Given the description of an element on the screen output the (x, y) to click on. 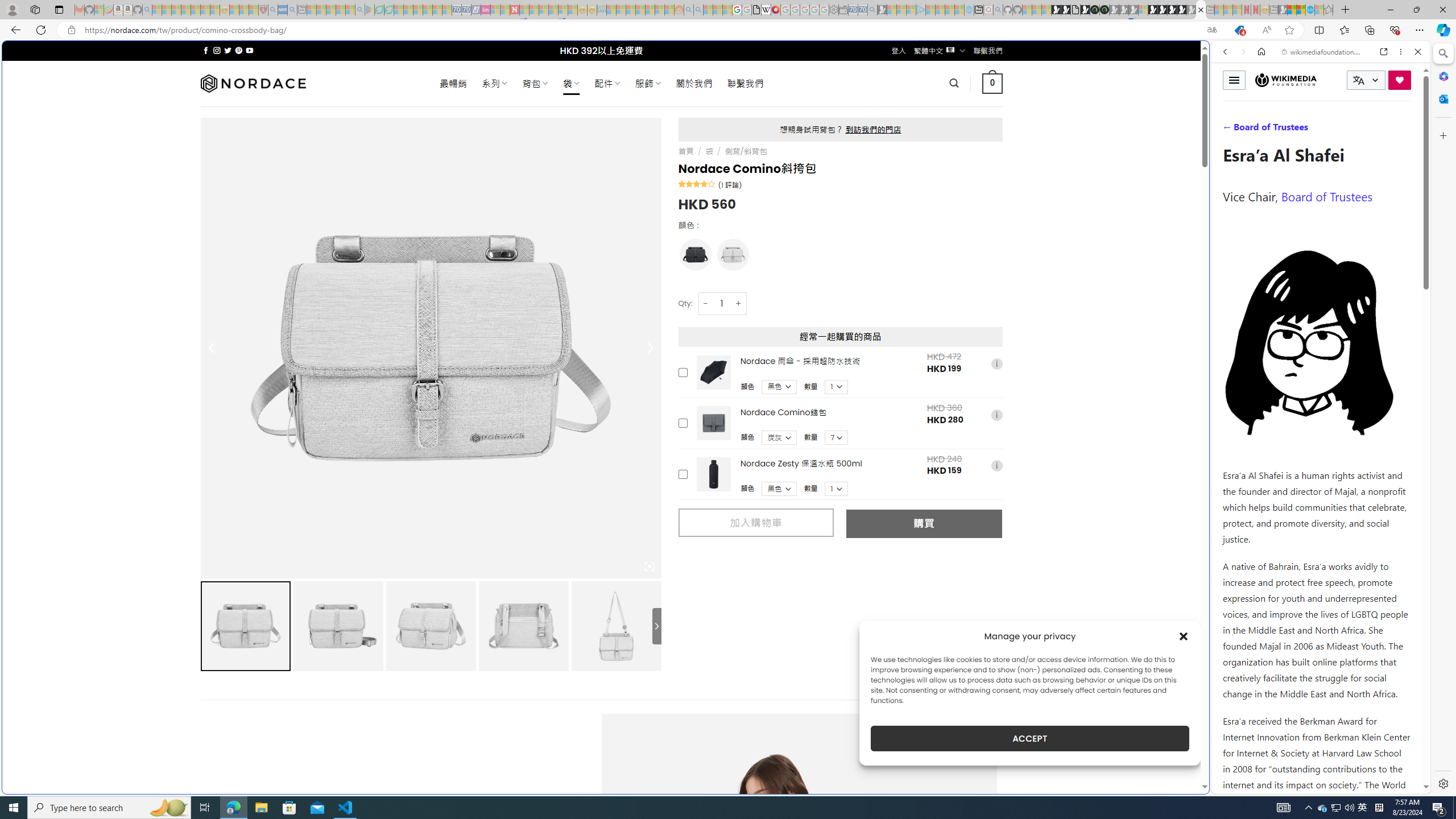
Follow on Instagram (216, 50)
Follow on YouTube (249, 50)
Class: iconic-woothumbs-fullscreen (649, 566)
